Given the description of an element on the screen output the (x, y) to click on. 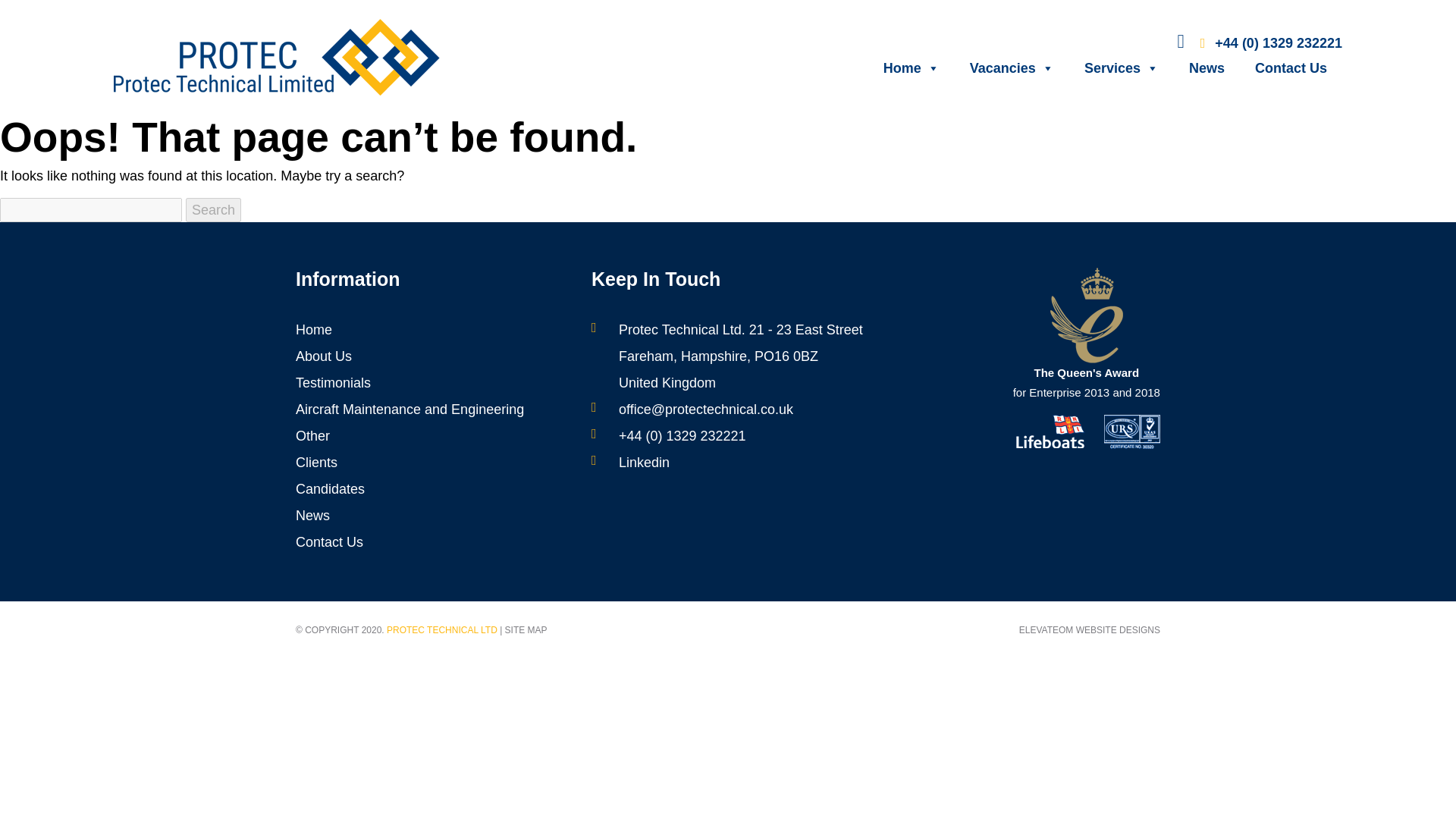
WEBSITE DESIGNS (1117, 629)
Home (313, 329)
Aircraft Maintenance and Engineering (409, 409)
Other (312, 435)
About Us (323, 355)
Contact Us (328, 541)
Search (213, 209)
News (1206, 68)
Linkedin (643, 462)
Clients (316, 462)
Home (911, 68)
Contact Us (1291, 68)
SITE MAP (526, 629)
Search (213, 209)
Services (1120, 68)
